Given the description of an element on the screen output the (x, y) to click on. 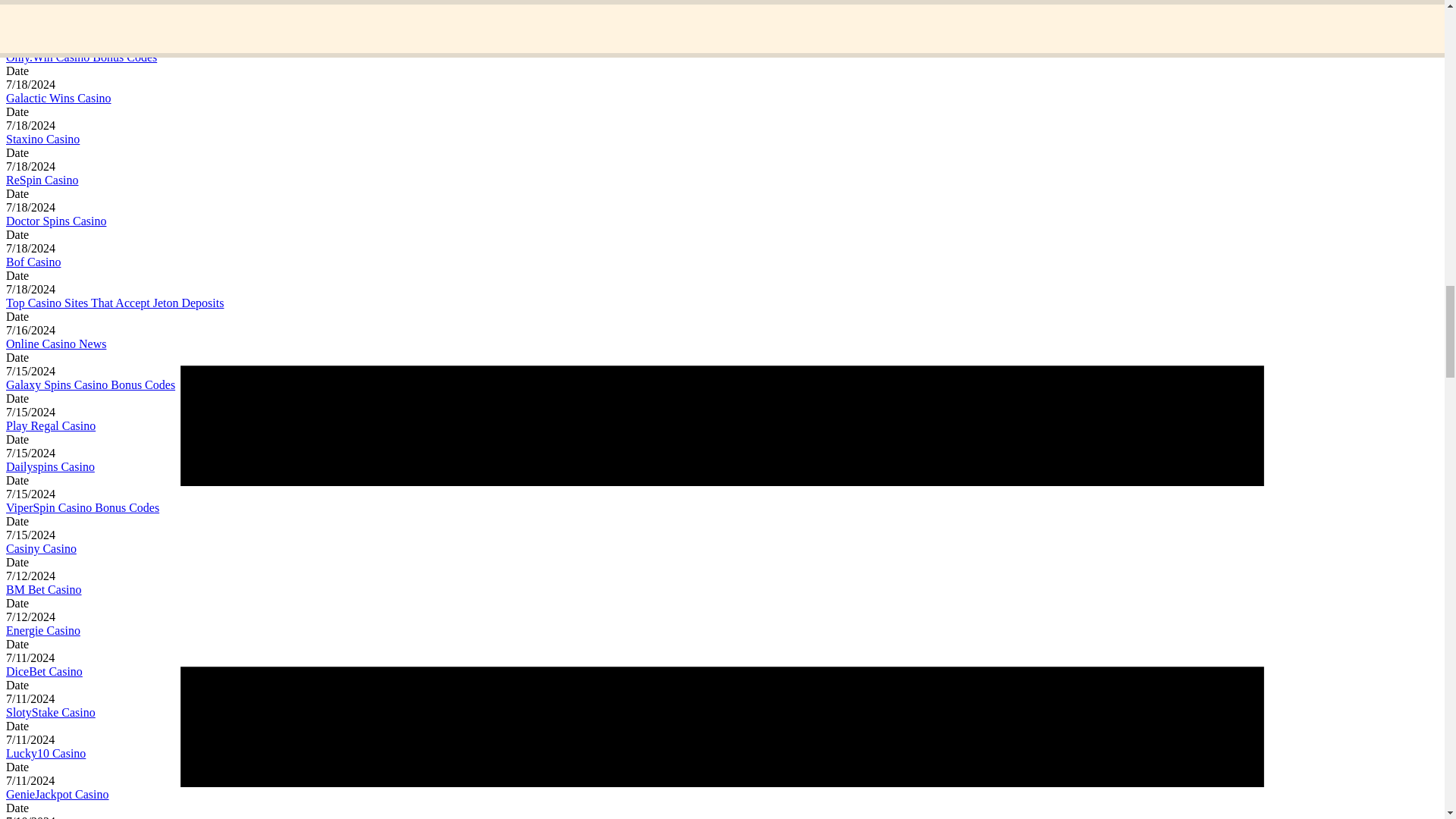
ReSpin Casino (41, 179)
Only.Win Casino Bonus Codes (81, 56)
Galactic Wins Casino (58, 97)
Staxino Casino (42, 138)
SupaCasino (34, 15)
